Given the description of an element on the screen output the (x, y) to click on. 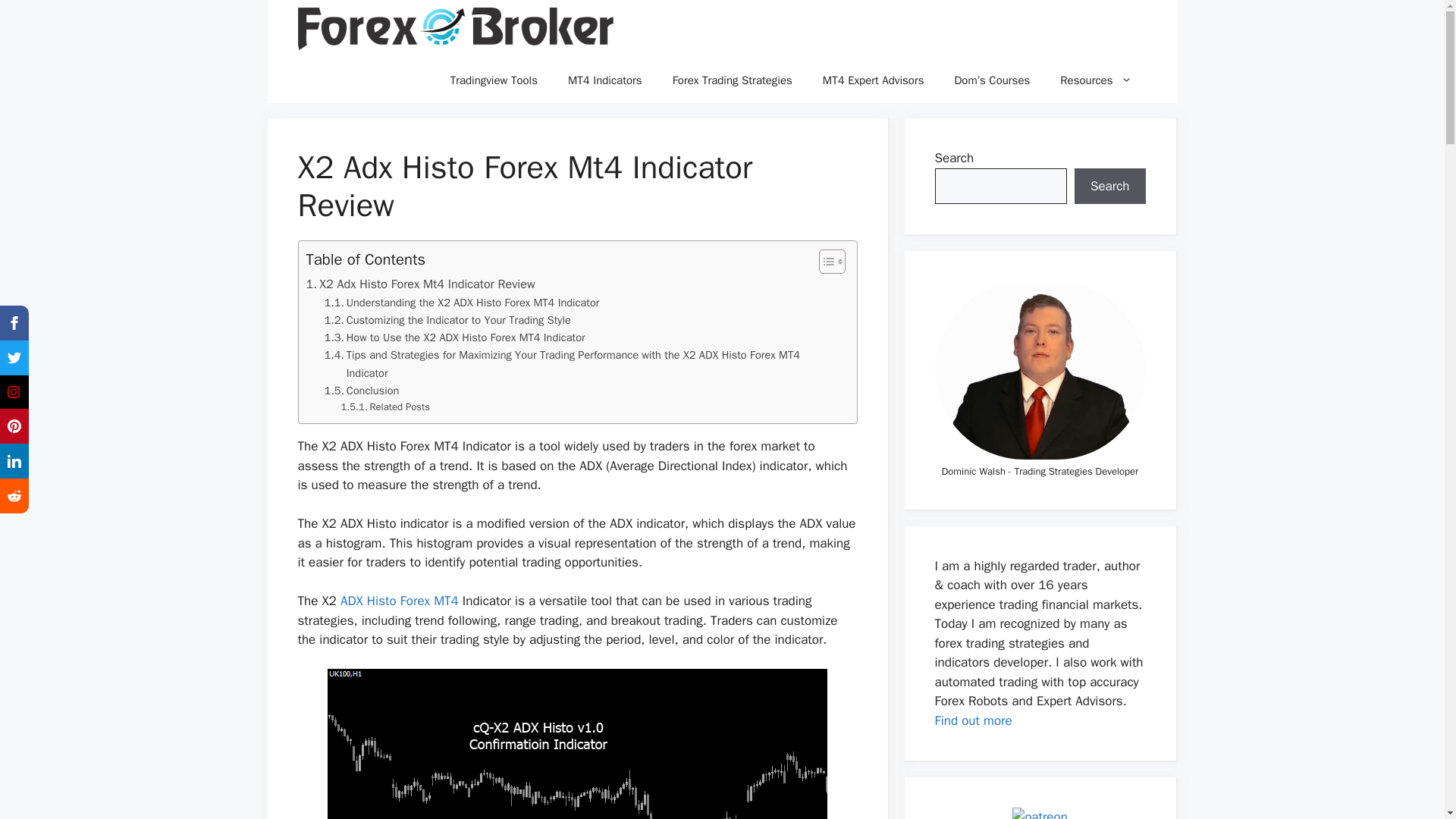
ADX Histo Forex MT4 (399, 600)
MT4 Indicators (605, 80)
Customizing the Indicator to Your Trading Style (447, 320)
MT4 Expert Advisors (873, 80)
Conclusion (361, 390)
Forex Trading Strategies (733, 80)
How to Use the X2 ADX Histo Forex MT4 Indicator (454, 337)
Resources (1096, 80)
How to Use the X2 ADX Histo Forex MT4 Indicator (454, 337)
Customizing the Indicator to Your Trading Style (447, 320)
Tradingview Tools (494, 80)
Conclusion (361, 390)
Understanding the X2 ADX Histo Forex MT4 Indicator (461, 303)
Forexobroker (454, 28)
